Given the description of an element on the screen output the (x, y) to click on. 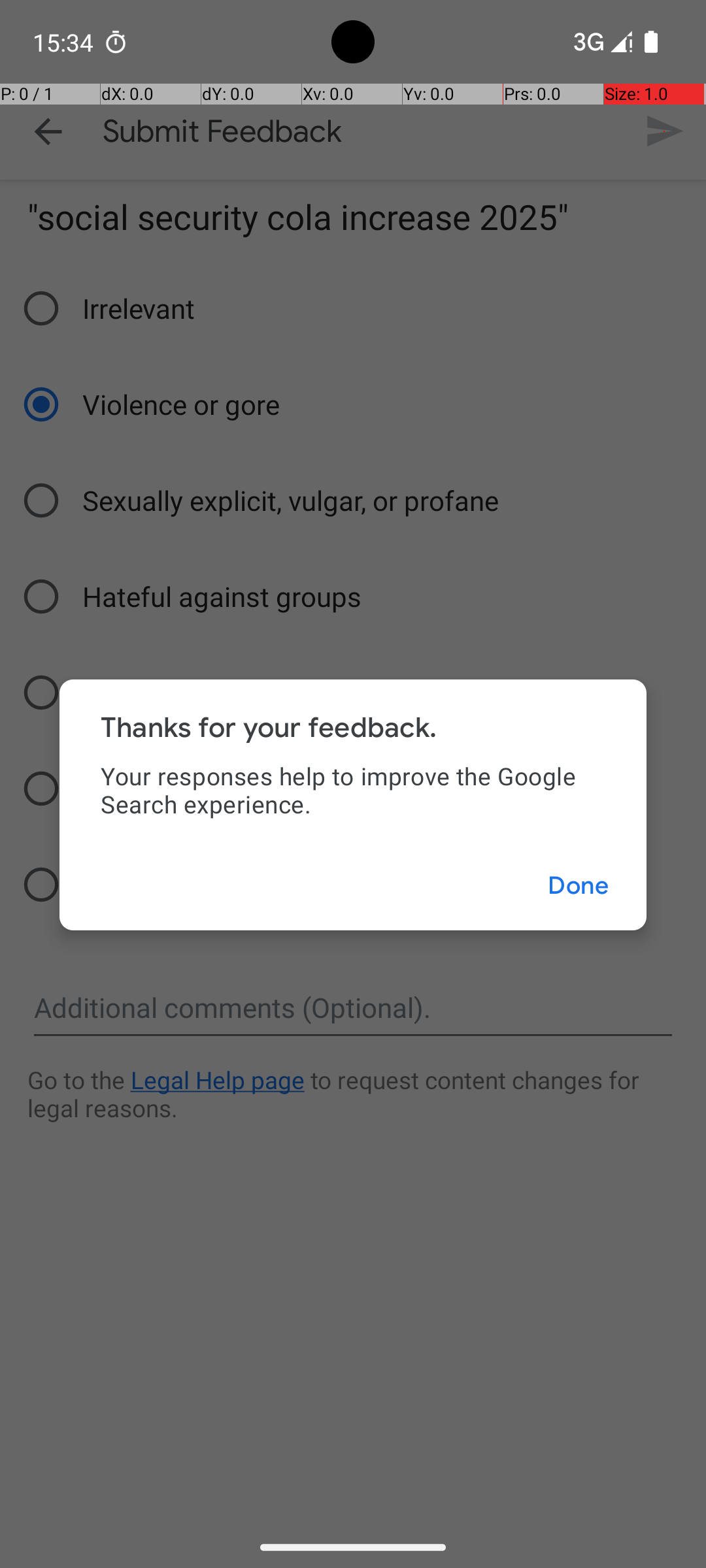
Thanks for your feedback. Element type: android.widget.TextView (268, 727)
Your responses help to improve the Google Search experience. Element type: android.widget.TextView (352, 789)
